Given the description of an element on the screen output the (x, y) to click on. 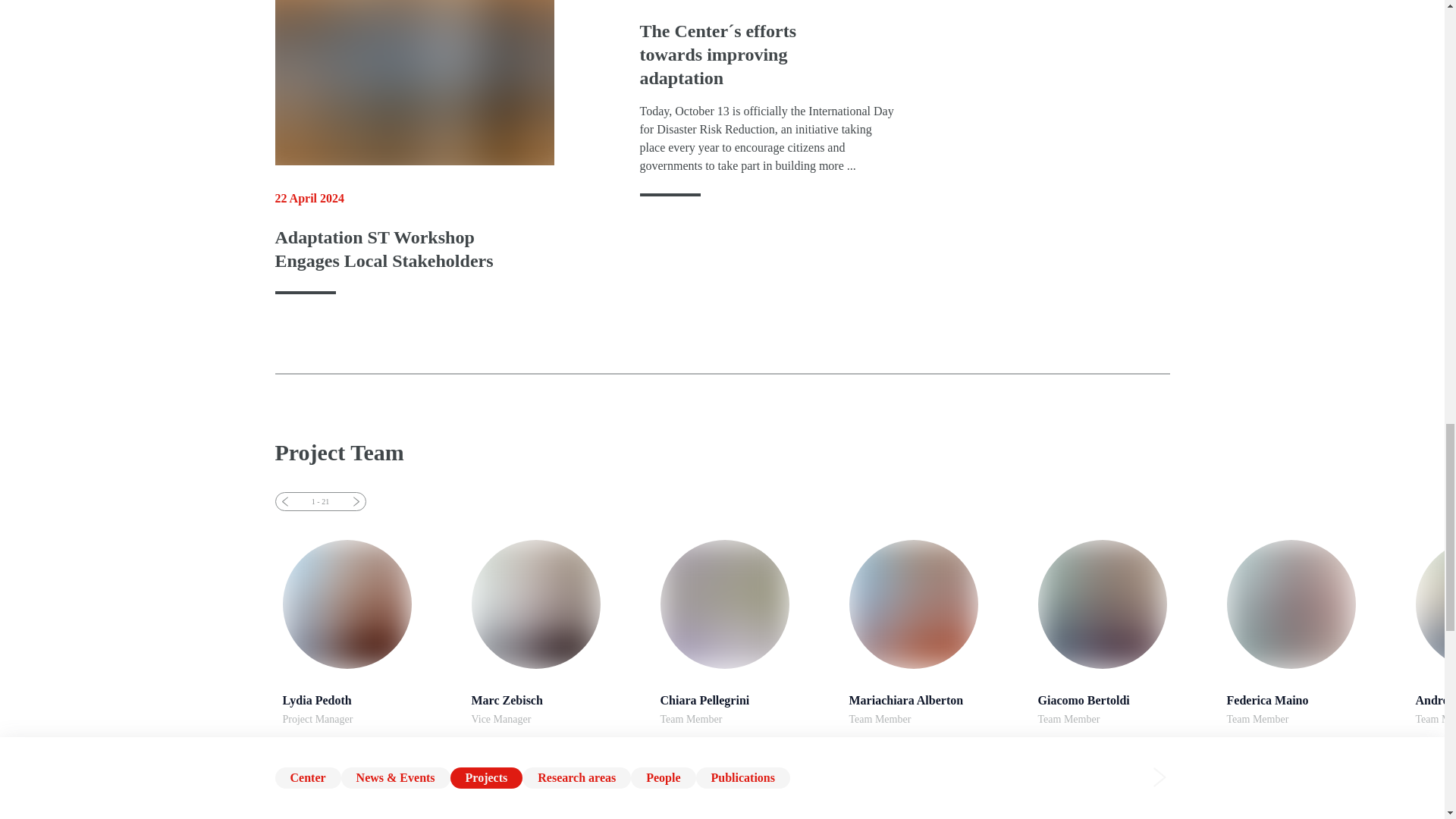
Mariachiara Alberton (935, 631)
Giacomo Bertoldi (1123, 631)
Giacomo Bertoldi (1101, 604)
Marc Zebisch (745, 631)
Mariachiara Alberton (1123, 631)
Marc Zebisch (368, 631)
Federica Maino (558, 631)
Chiara Pellegrini (913, 604)
Lydia Pedoth (535, 604)
